Given the description of an element on the screen output the (x, y) to click on. 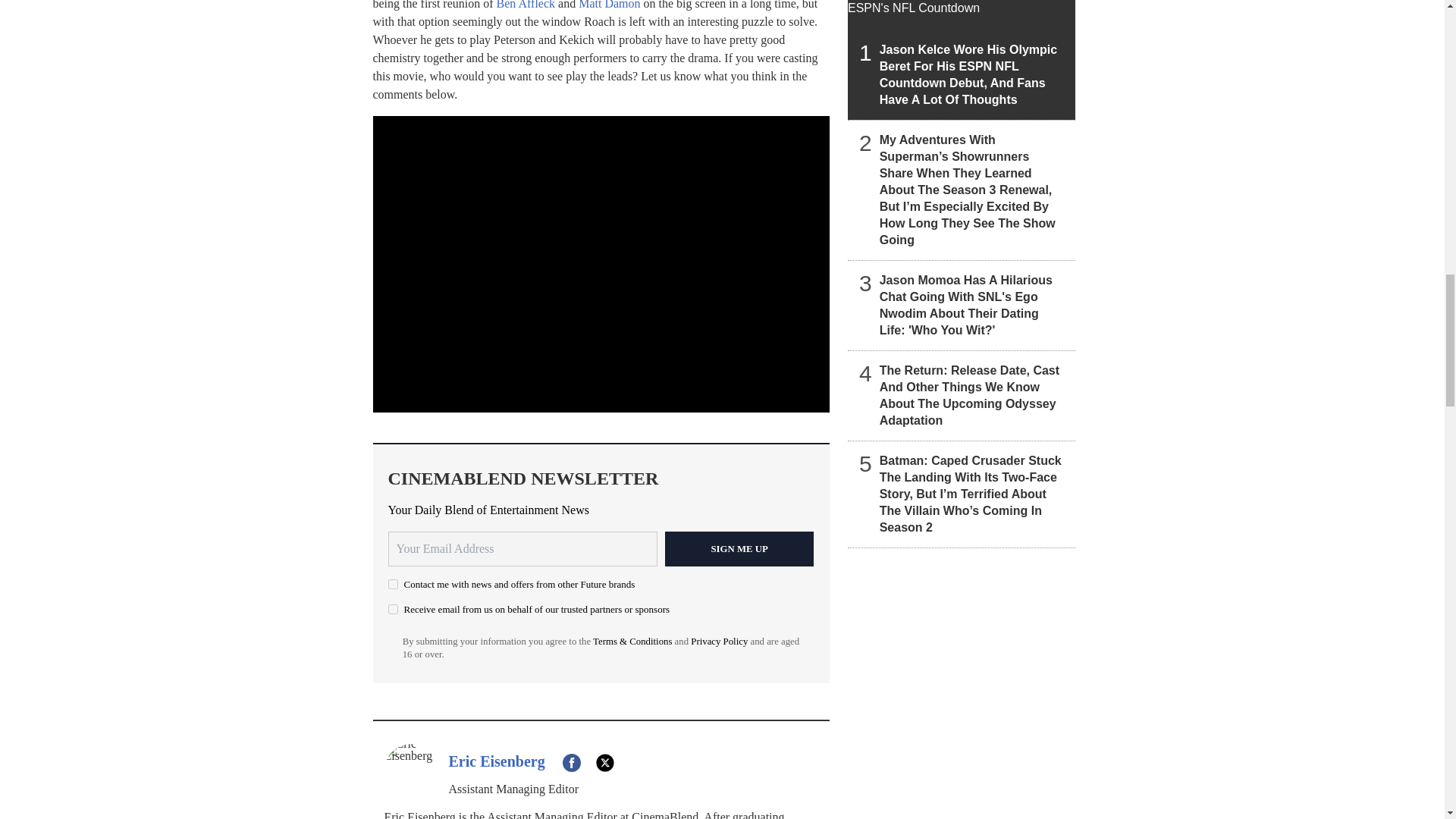
on (392, 583)
Sign me up (739, 548)
on (392, 609)
